Given the description of an element on the screen output the (x, y) to click on. 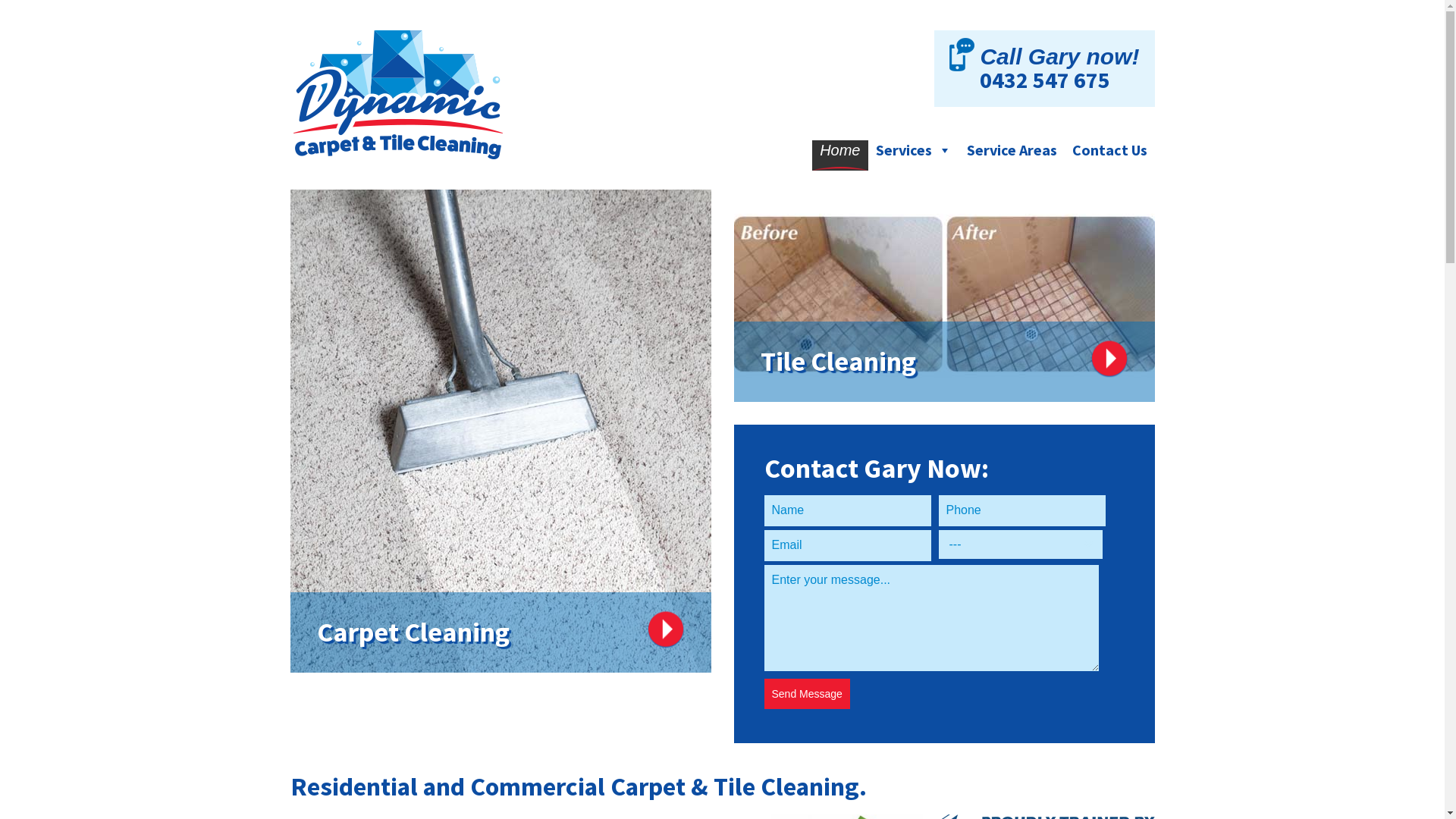
0432 547 675 Element type: text (1044, 79)
Service Areas Element type: text (1010, 155)
Send Message Element type: text (807, 693)
Tile Cleaning Element type: text (944, 295)
Services Element type: text (912, 155)
Contact Us Element type: text (1109, 155)
Dynamic Carpet & Tile Cleaning Element type: hover (425, 94)
Carpet Cleaning Element type: text (499, 430)
Home Element type: text (839, 155)
